Given the description of an element on the screen output the (x, y) to click on. 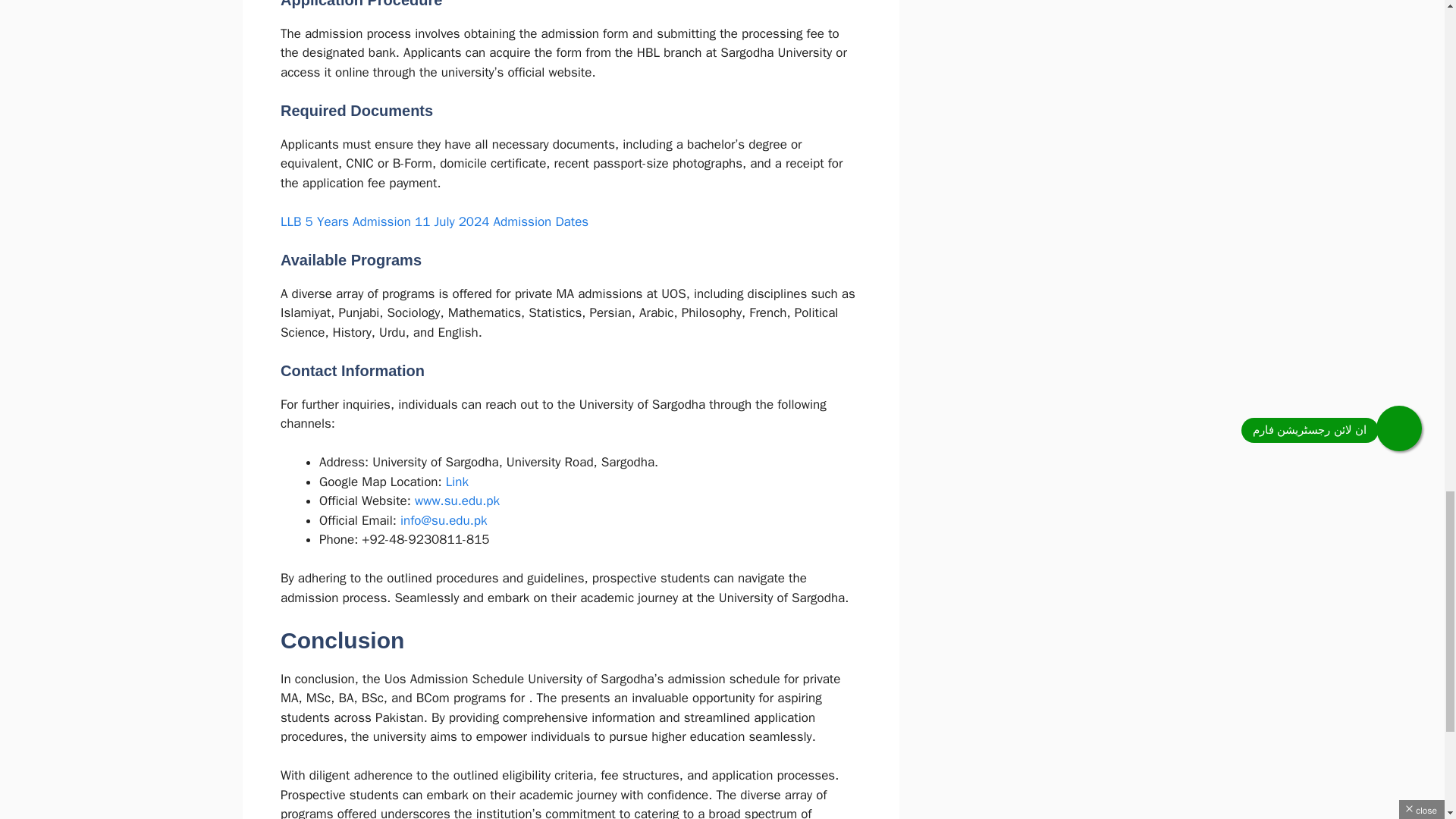
LLB 5 Years Admission 11 July 2024 Admission Dates (434, 221)
www.su.edu.pk (456, 500)
Link (456, 481)
